Given the description of an element on the screen output the (x, y) to click on. 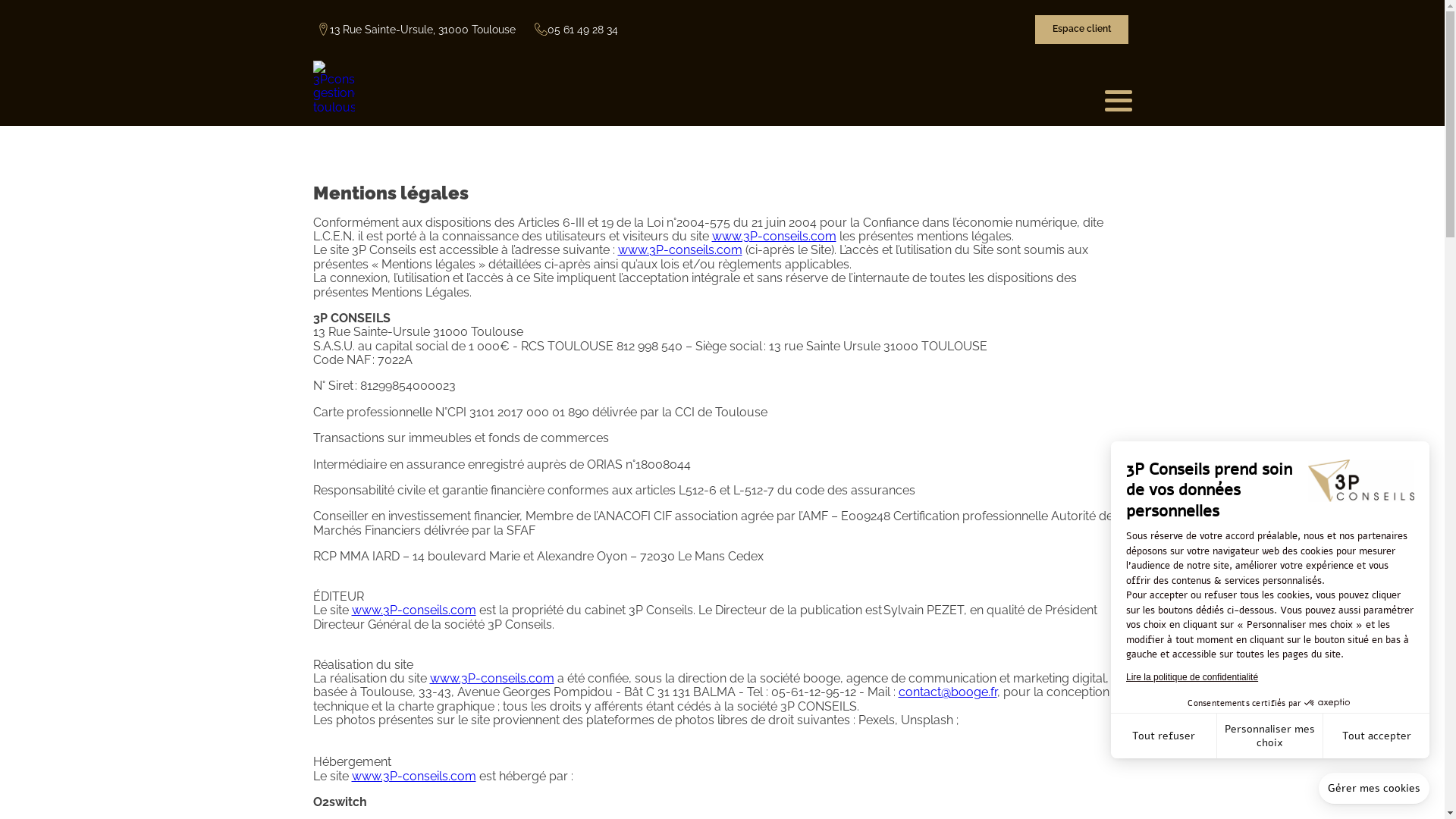
Espace client Element type: text (1081, 29)
www.3P-conseils.com Element type: text (773, 236)
contact@booge.fr Element type: text (946, 691)
Tout accepter Element type: text (1376, 735)
www.3P-conseils.com Element type: text (679, 249)
www.3P-conseils.com Element type: text (413, 609)
Tout refuser Element type: text (1163, 735)
www.3P-conseils.com Element type: text (491, 678)
Personnaliser mes choix Element type: text (1270, 735)
www.3P-conseils.com Element type: text (413, 775)
